Given the description of an element on the screen output the (x, y) to click on. 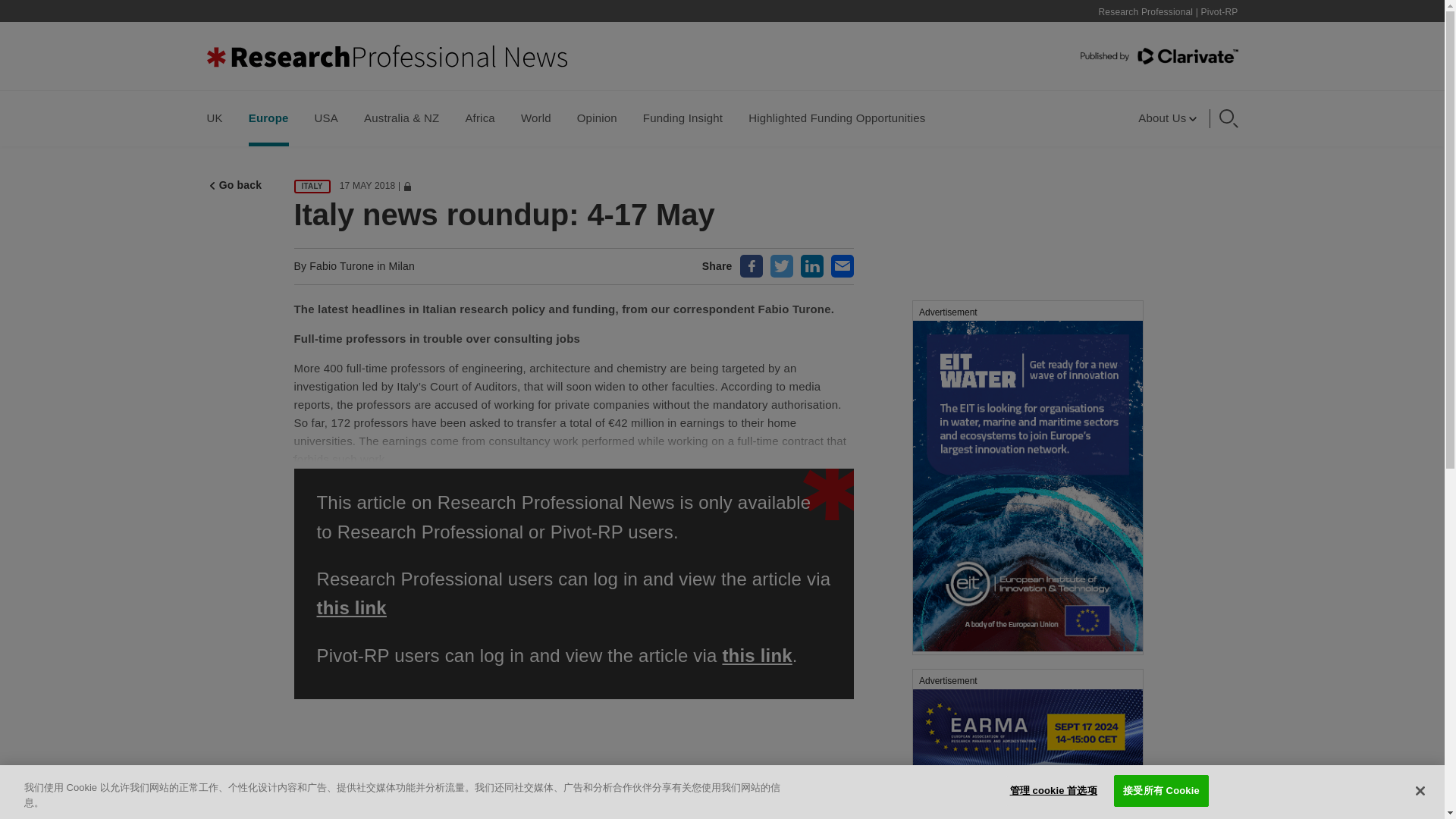
this link (352, 607)
Go back (236, 184)
this link (757, 655)
Research Professional (1144, 11)
Share on Facebook (750, 265)
Pivot-RP (1220, 11)
Research Professional News (386, 56)
Funding Insight (682, 118)
3rd party ad content (1026, 744)
Share on Linkedin (812, 265)
